Given the description of an element on the screen output the (x, y) to click on. 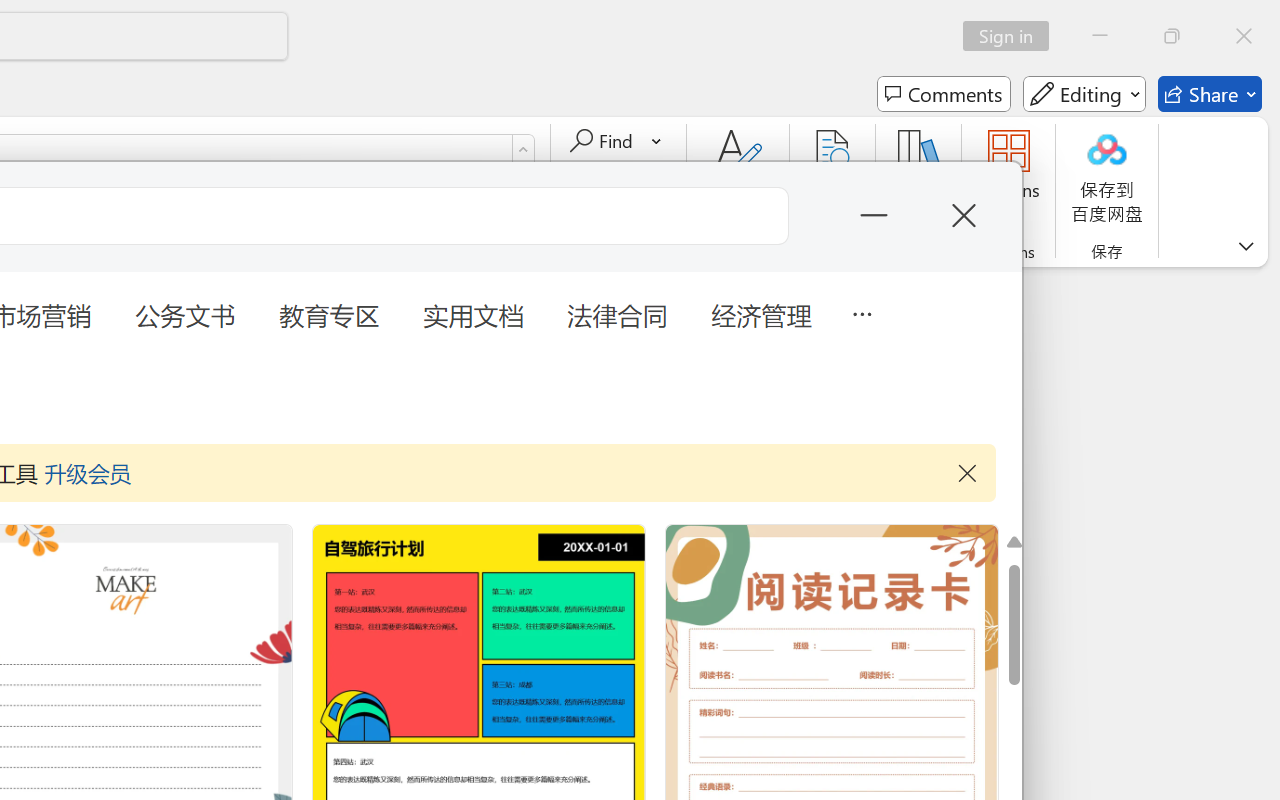
Sign in (1012, 35)
5 more tabs (861, 312)
